Given the description of an element on the screen output the (x, y) to click on. 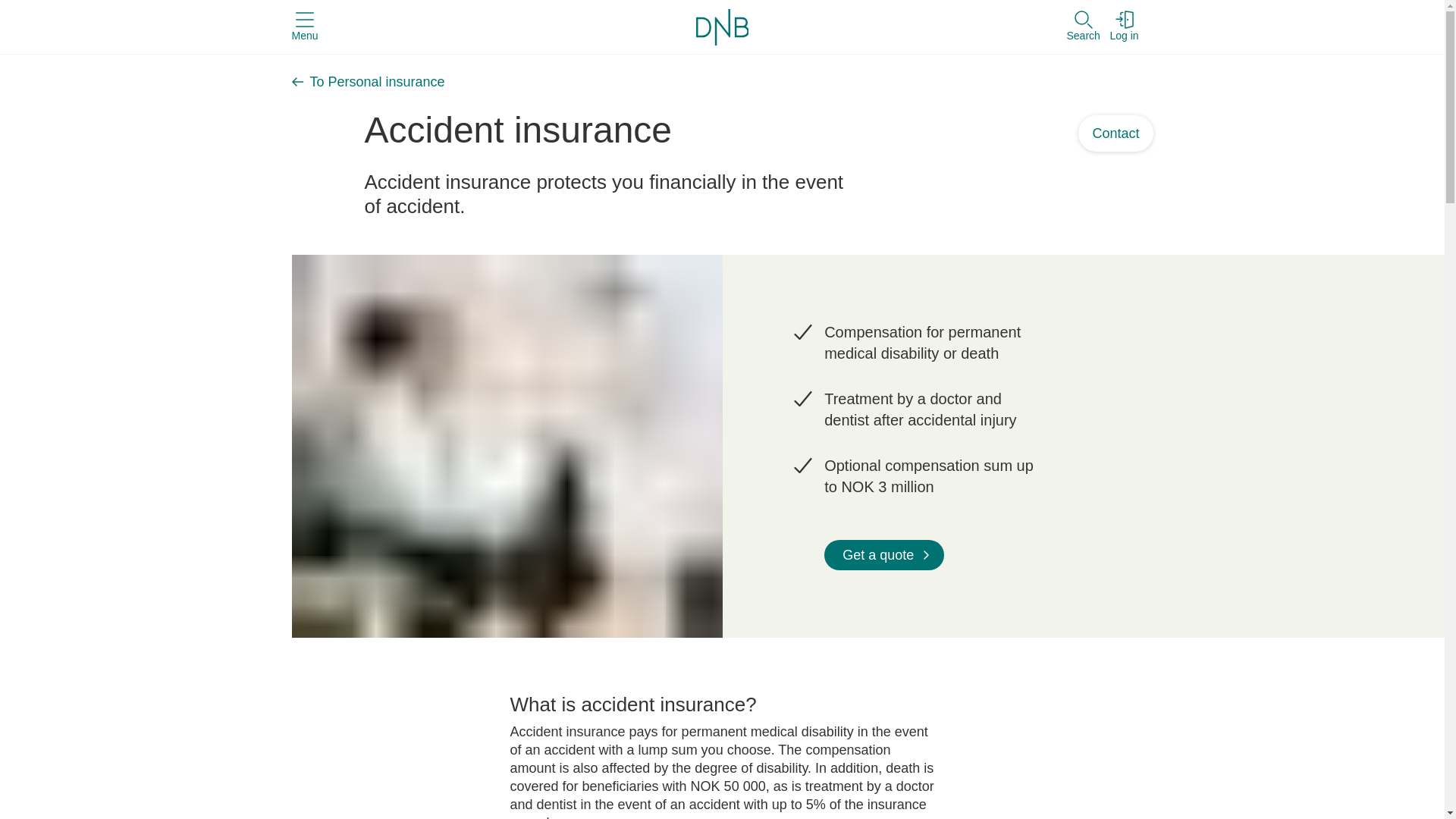
Go to DNB's website (722, 26)
Contact (1115, 133)
